Given the description of an element on the screen output the (x, y) to click on. 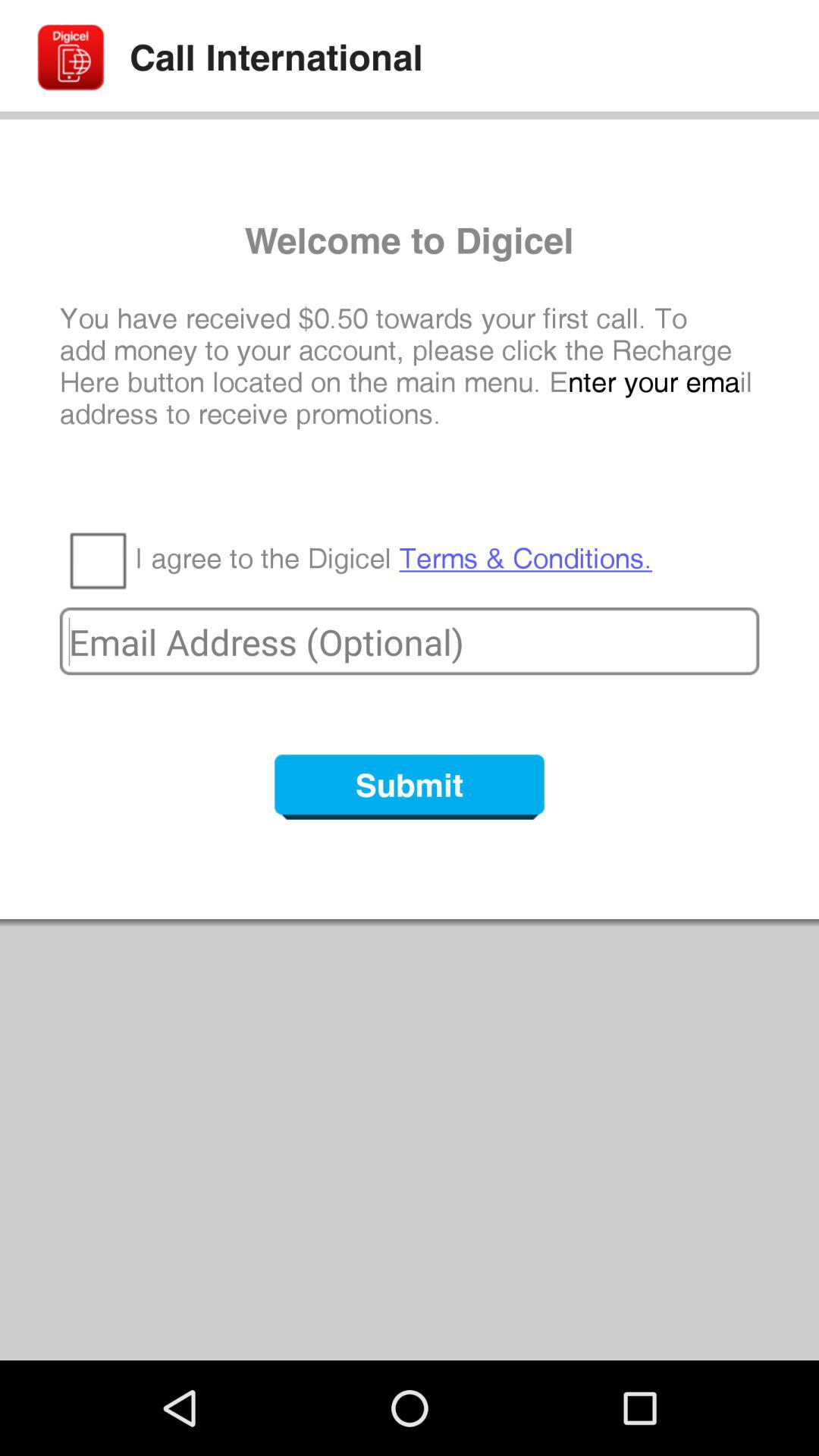
turn on the app to the left of the i agree to item (97, 559)
